Given the description of an element on the screen output the (x, y) to click on. 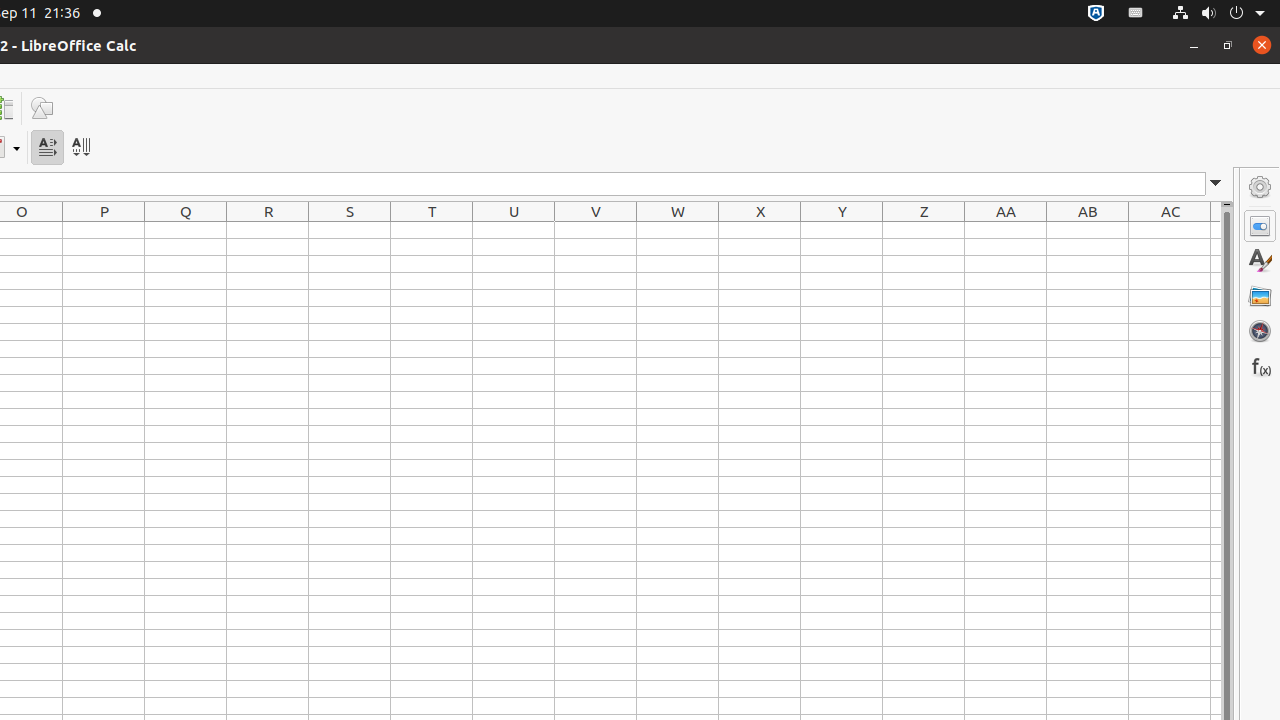
Text direction from top to bottom Element type: toggle-button (80, 147)
Expand Formula Bar Element type: push-button (1216, 183)
Y1 Element type: table-cell (842, 230)
Q1 Element type: table-cell (186, 230)
